Given the description of an element on the screen output the (x, y) to click on. 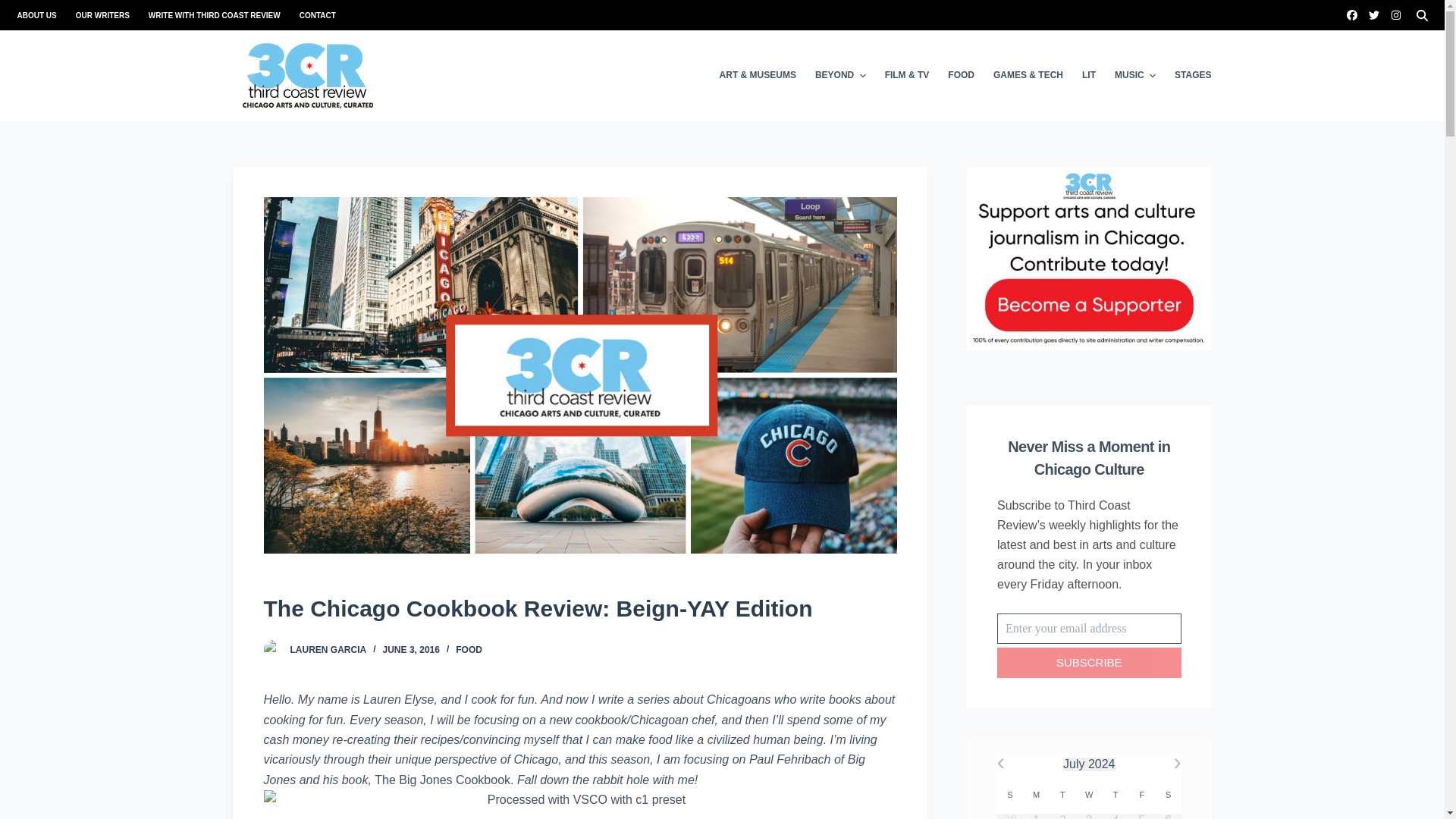
CONTACT (312, 15)
ABOUT US (40, 15)
OUR WRITERS (101, 15)
WRITE WITH THIRD COAST REVIEW (213, 15)
